Given the description of an element on the screen output the (x, y) to click on. 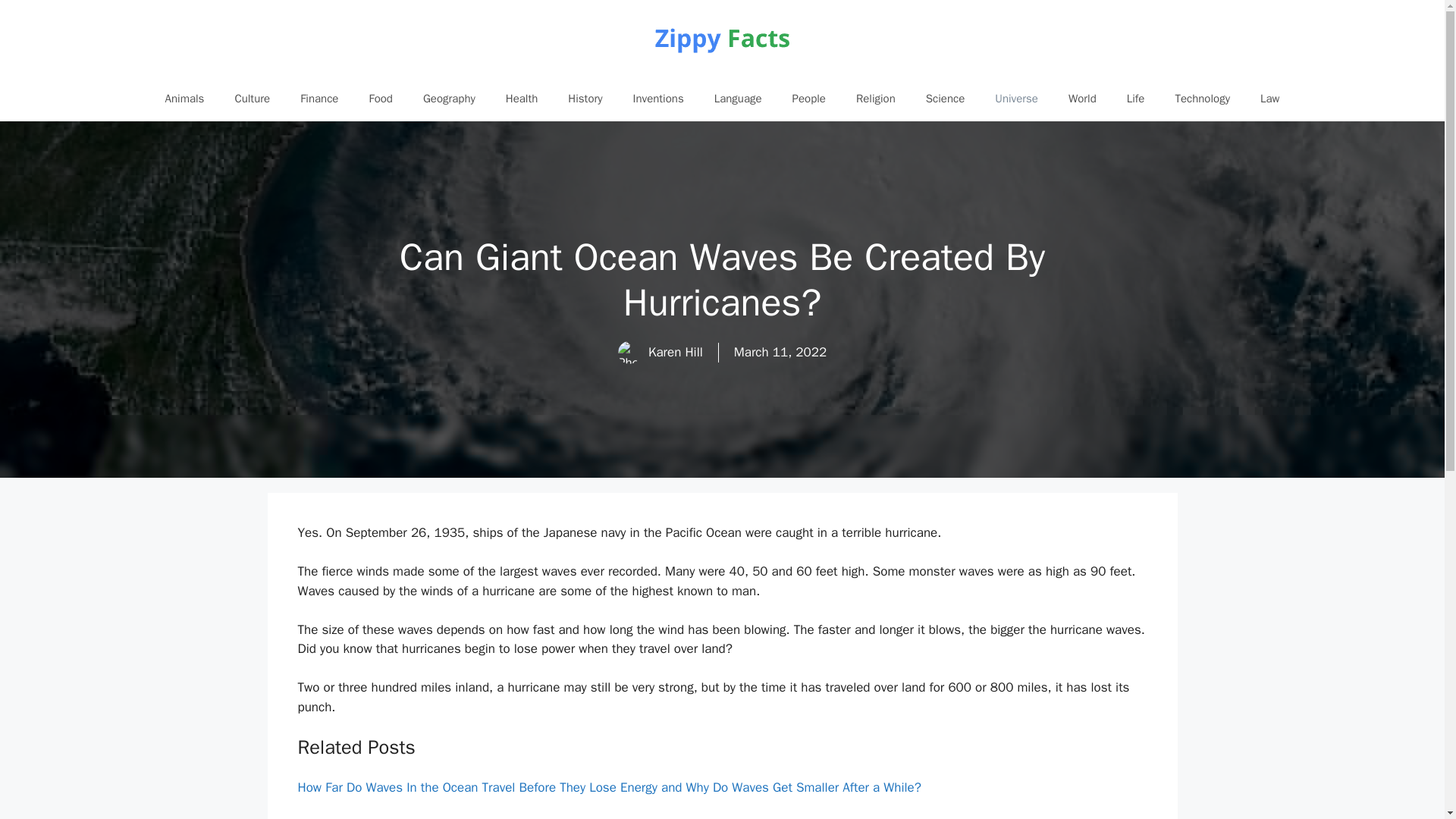
Finance (319, 98)
Geography (448, 98)
People (809, 98)
Universe (1015, 98)
History (585, 98)
Inventions (657, 98)
Law (1269, 98)
Science (945, 98)
World (1082, 98)
Technology (1201, 98)
Culture (252, 98)
Health (521, 98)
Animals (184, 98)
